Given the description of an element on the screen output the (x, y) to click on. 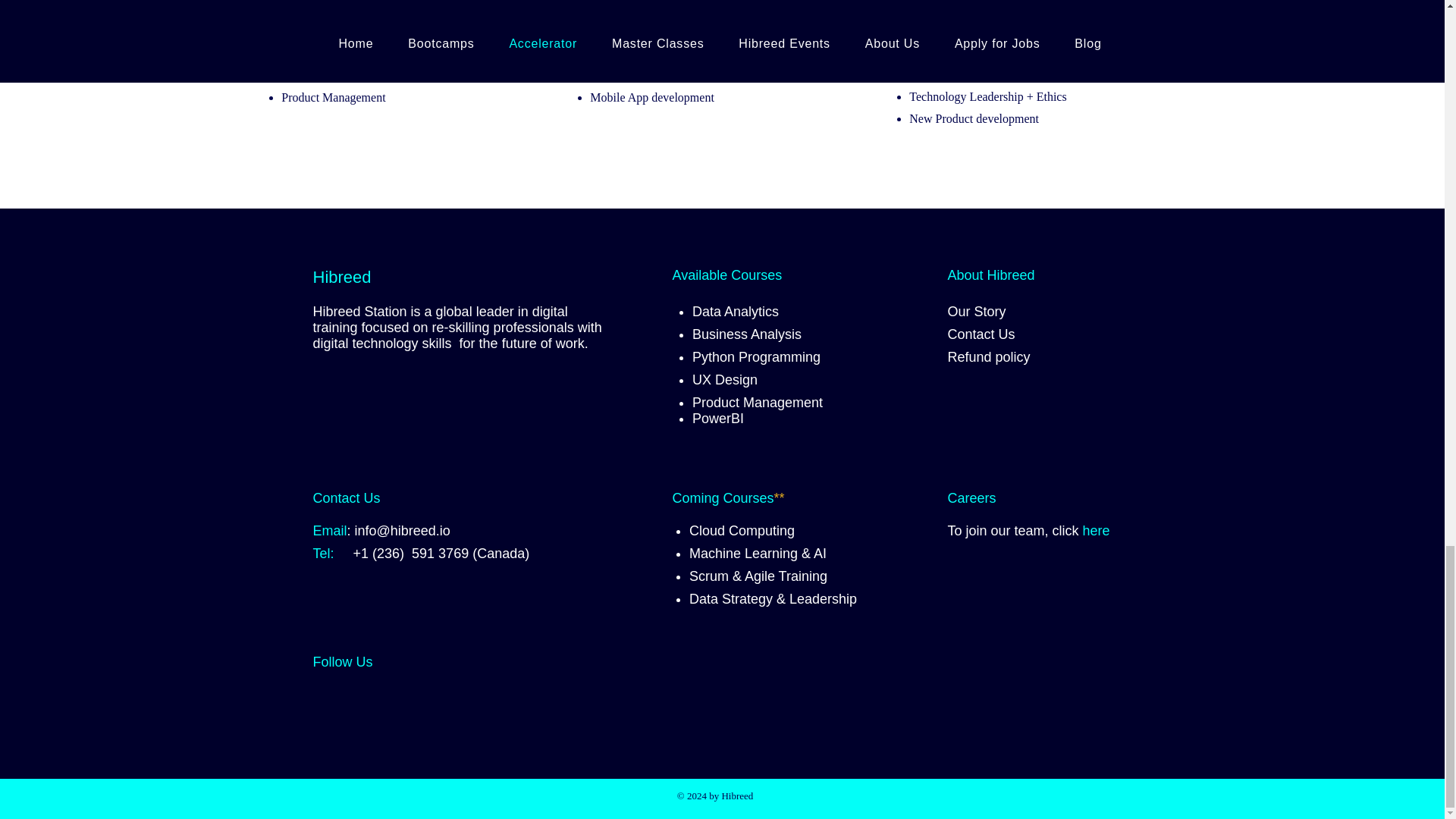
Data Analytics (735, 311)
Our Story (976, 311)
UX Design (725, 379)
Product Management (757, 402)
Business Analysis (747, 334)
